Given the description of an element on the screen output the (x, y) to click on. 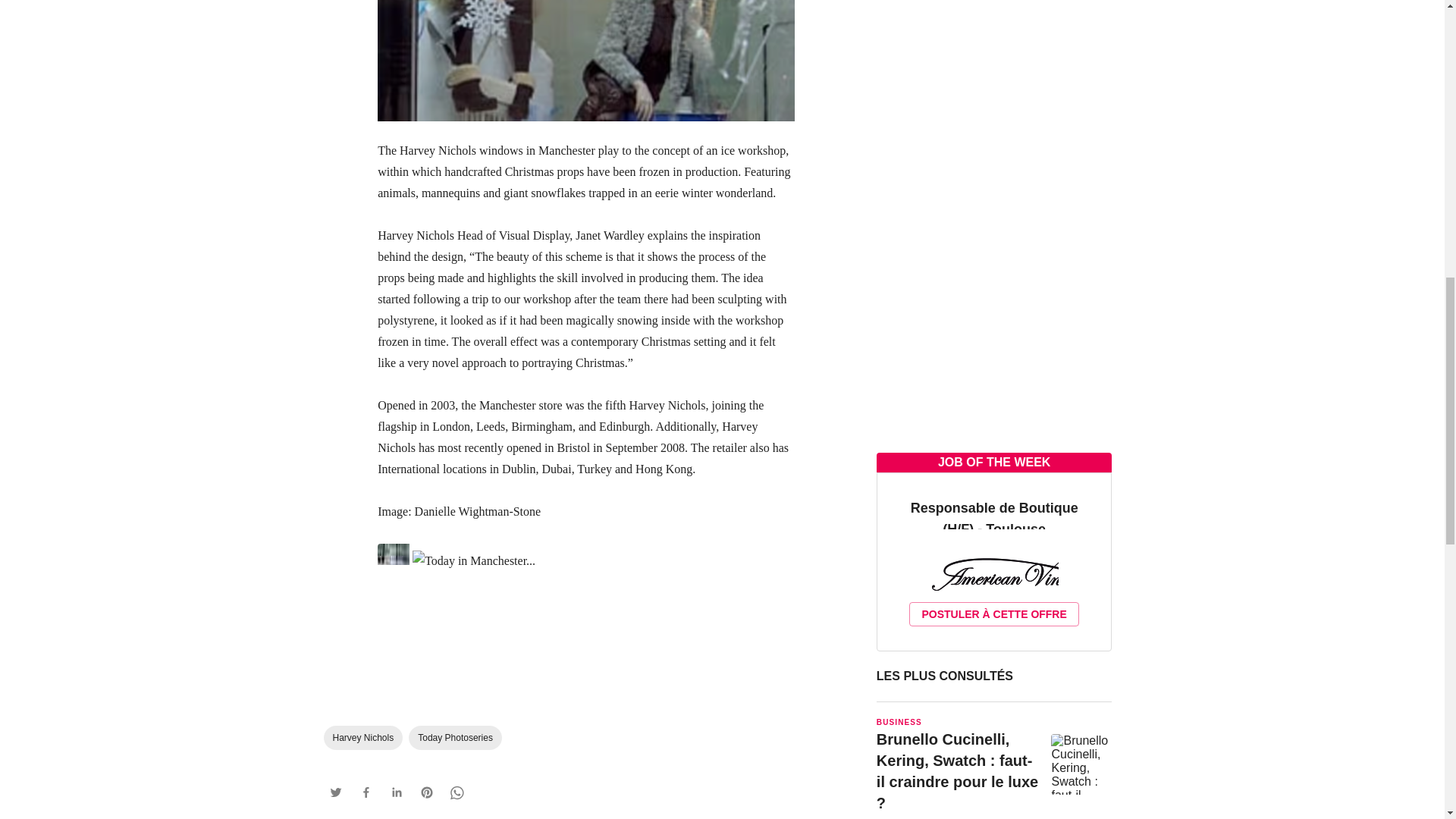
American Vintage (994, 583)
Today in Manchester... (585, 557)
Today in Manchester... (585, 63)
